Given the description of an element on the screen output the (x, y) to click on. 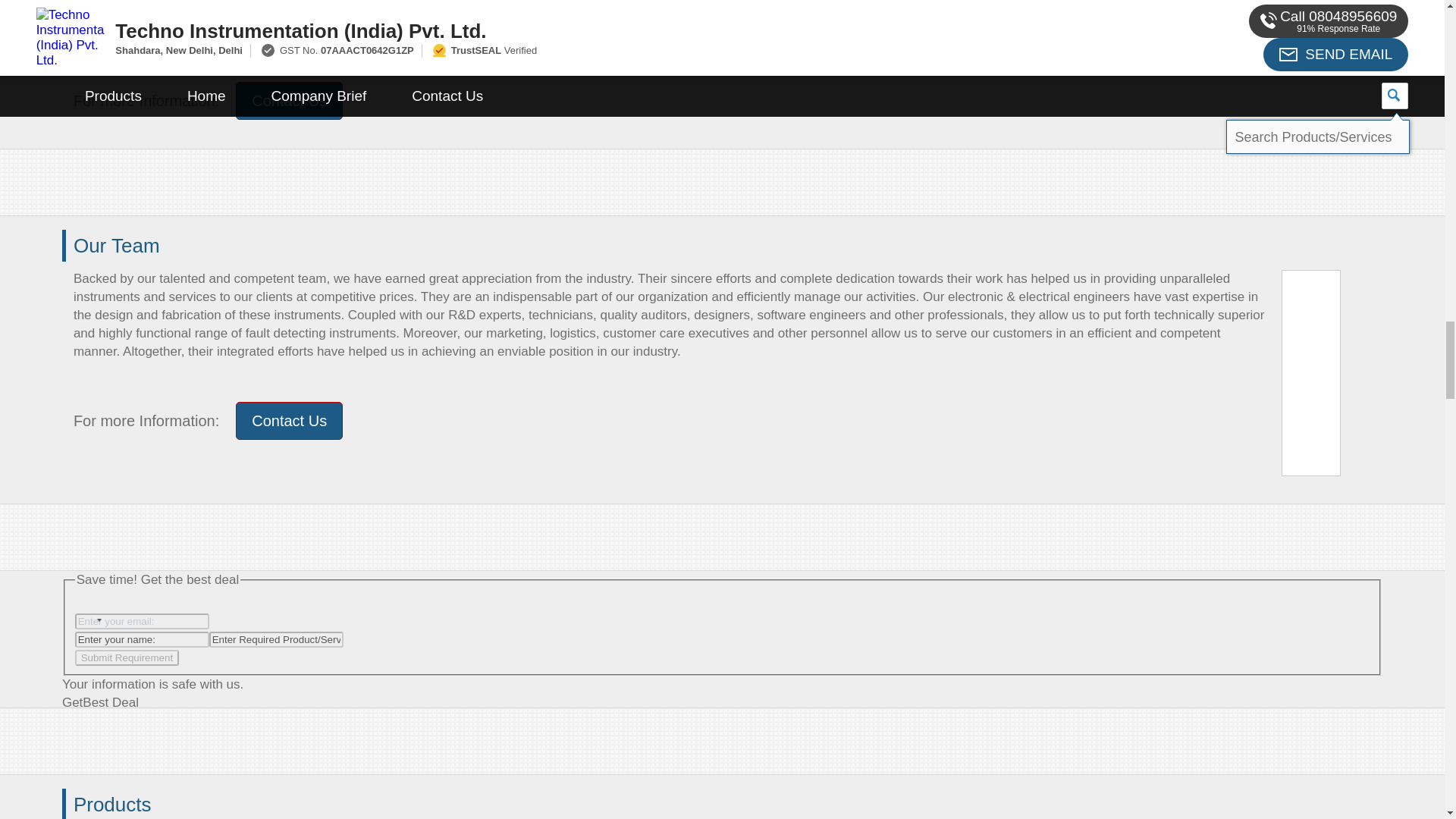
Submit Requirement (127, 657)
Enter your name: (142, 638)
Enter your email: (142, 620)
Submit Requirement (127, 657)
